Given the description of an element on the screen output the (x, y) to click on. 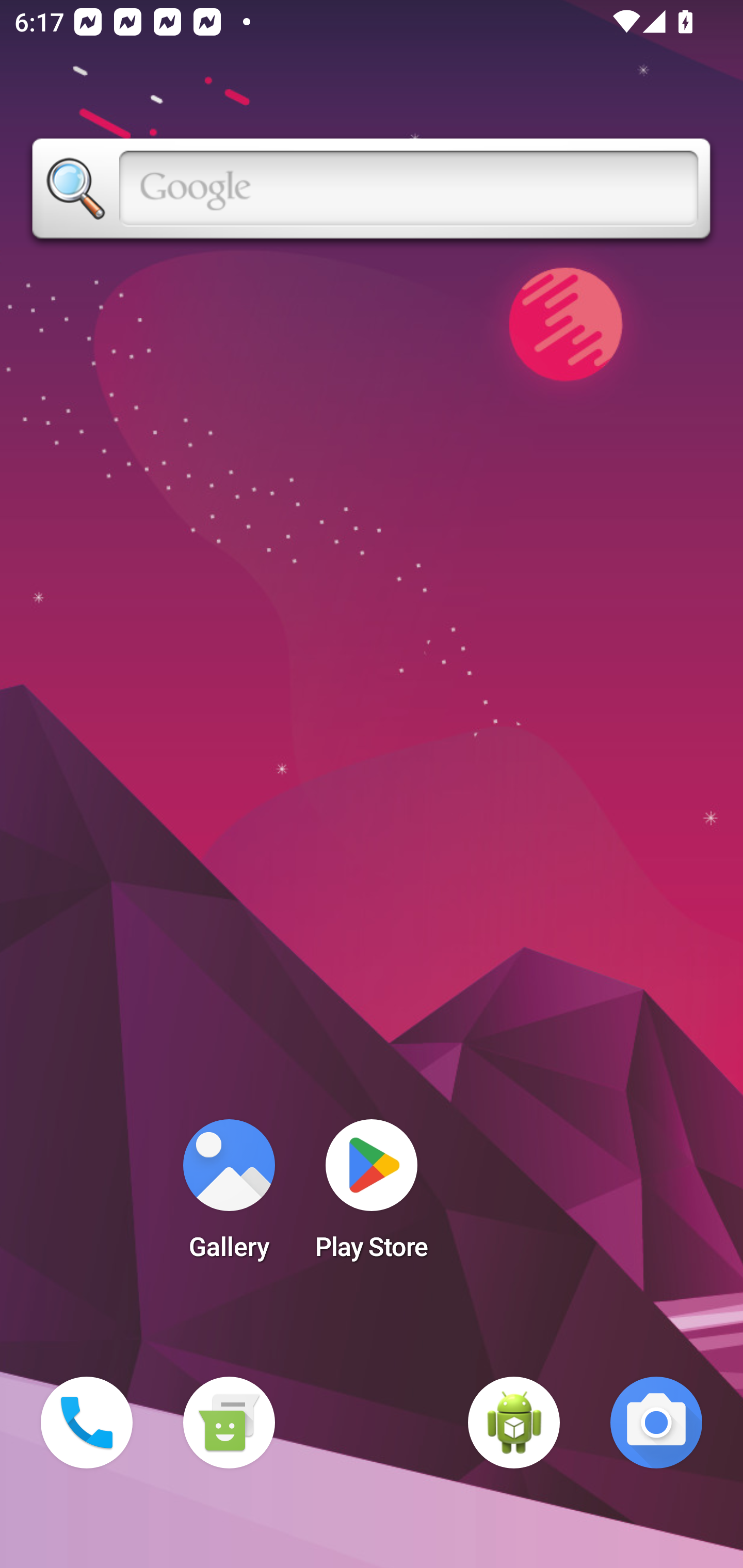
Gallery (228, 1195)
Play Store (371, 1195)
Phone (86, 1422)
Messaging (228, 1422)
WebView Browser Tester (513, 1422)
Camera (656, 1422)
